Given the description of an element on the screen output the (x, y) to click on. 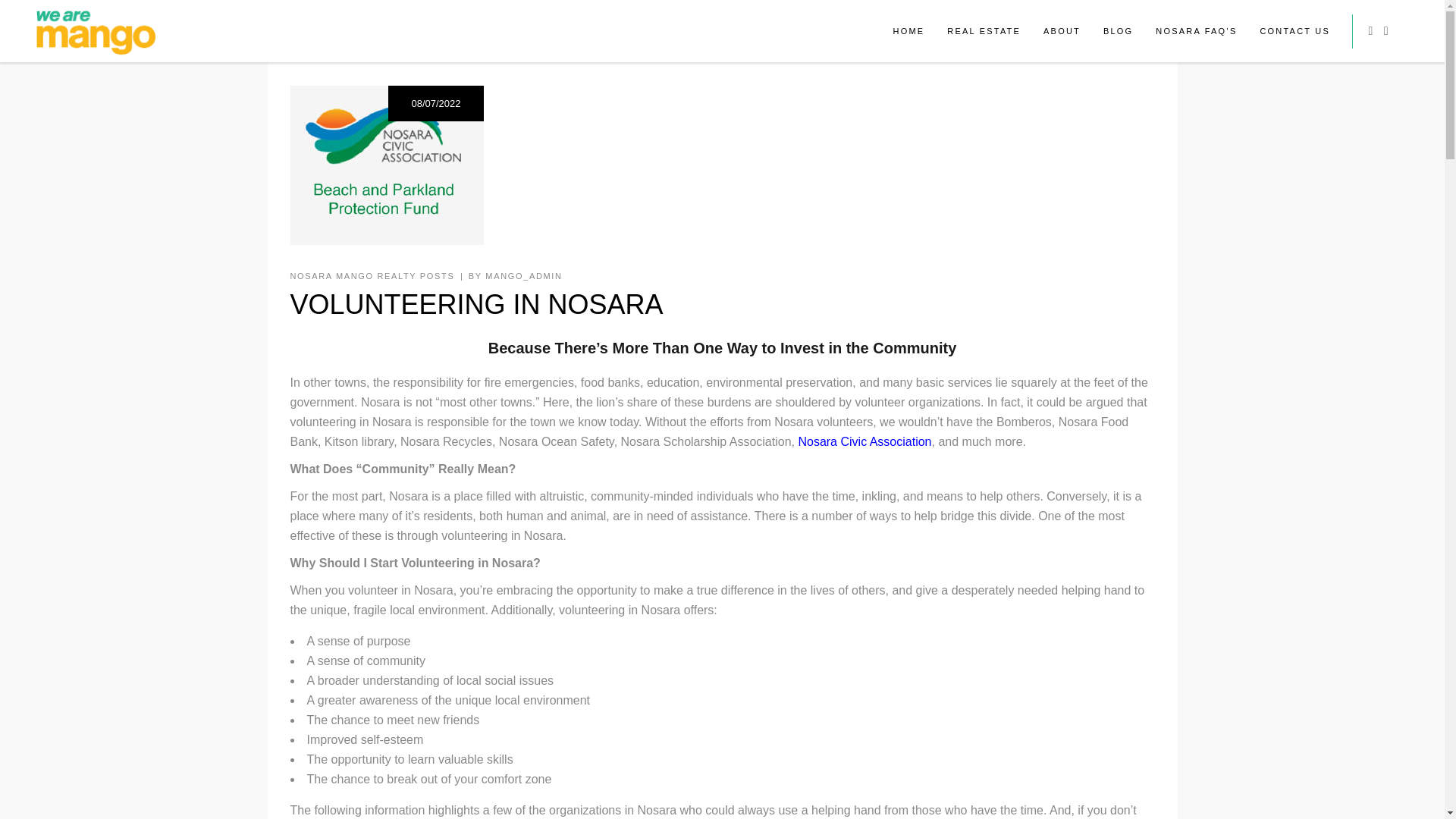
REAL ESTATE (984, 31)
CONTACT US (1293, 31)
NOSARA MANGO REALTY POSTS (371, 275)
Nosara Civic Association (864, 440)
ABOUT (1062, 31)
